Given the description of an element on the screen output the (x, y) to click on. 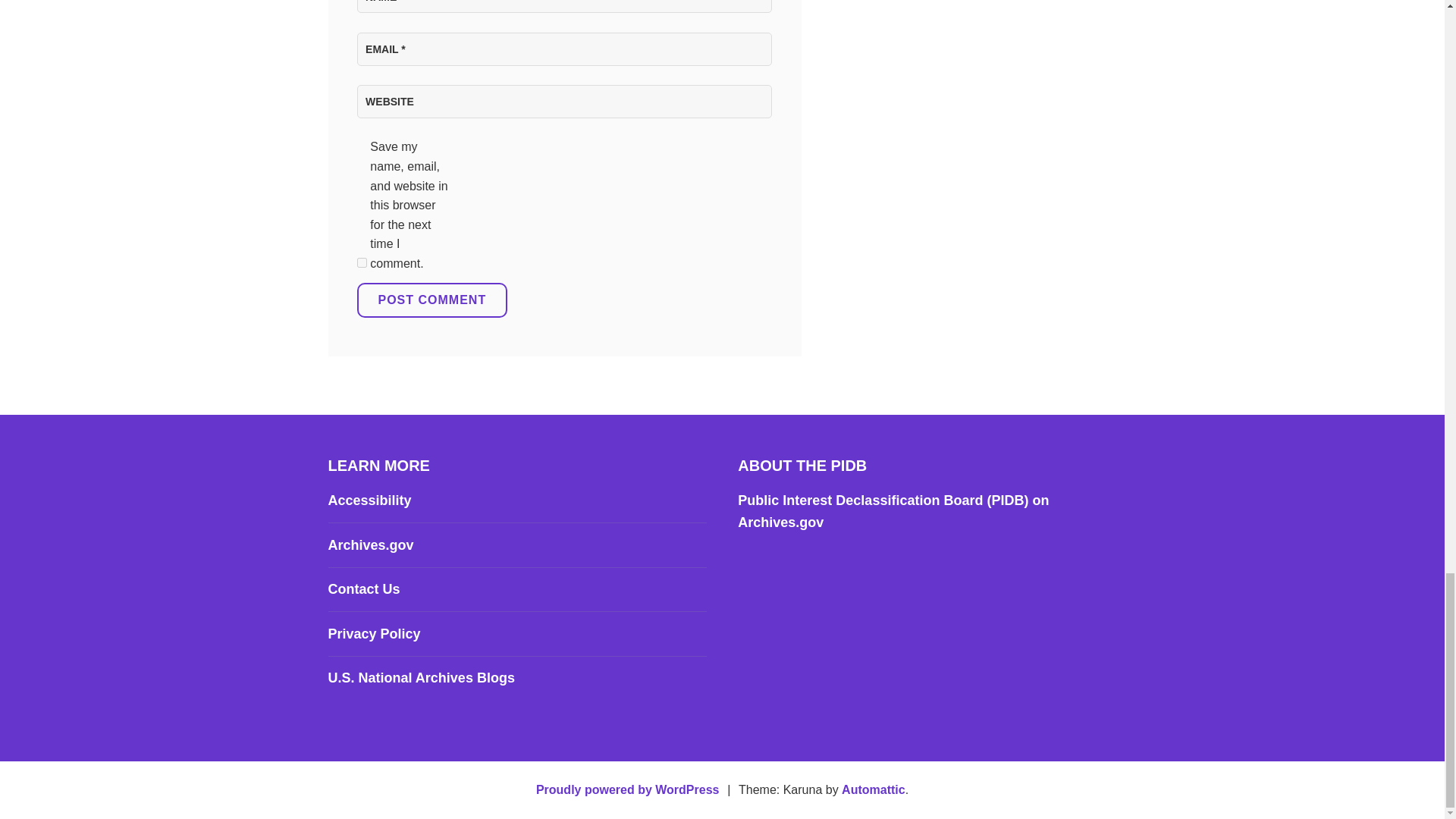
Post Comment (431, 299)
Privacy Policy (373, 633)
Accessibility (368, 500)
Contact Us (362, 589)
National Archives privacy policy (373, 633)
Contact information (362, 589)
Archives.gov (370, 544)
yes (361, 262)
Post Comment (431, 299)
U.S. National Archives Blogs (420, 677)
Automattic (873, 789)
Accessibility information on archives.gov (368, 500)
U.S. National Archives Blogroll (420, 677)
